Given the description of an element on the screen output the (x, y) to click on. 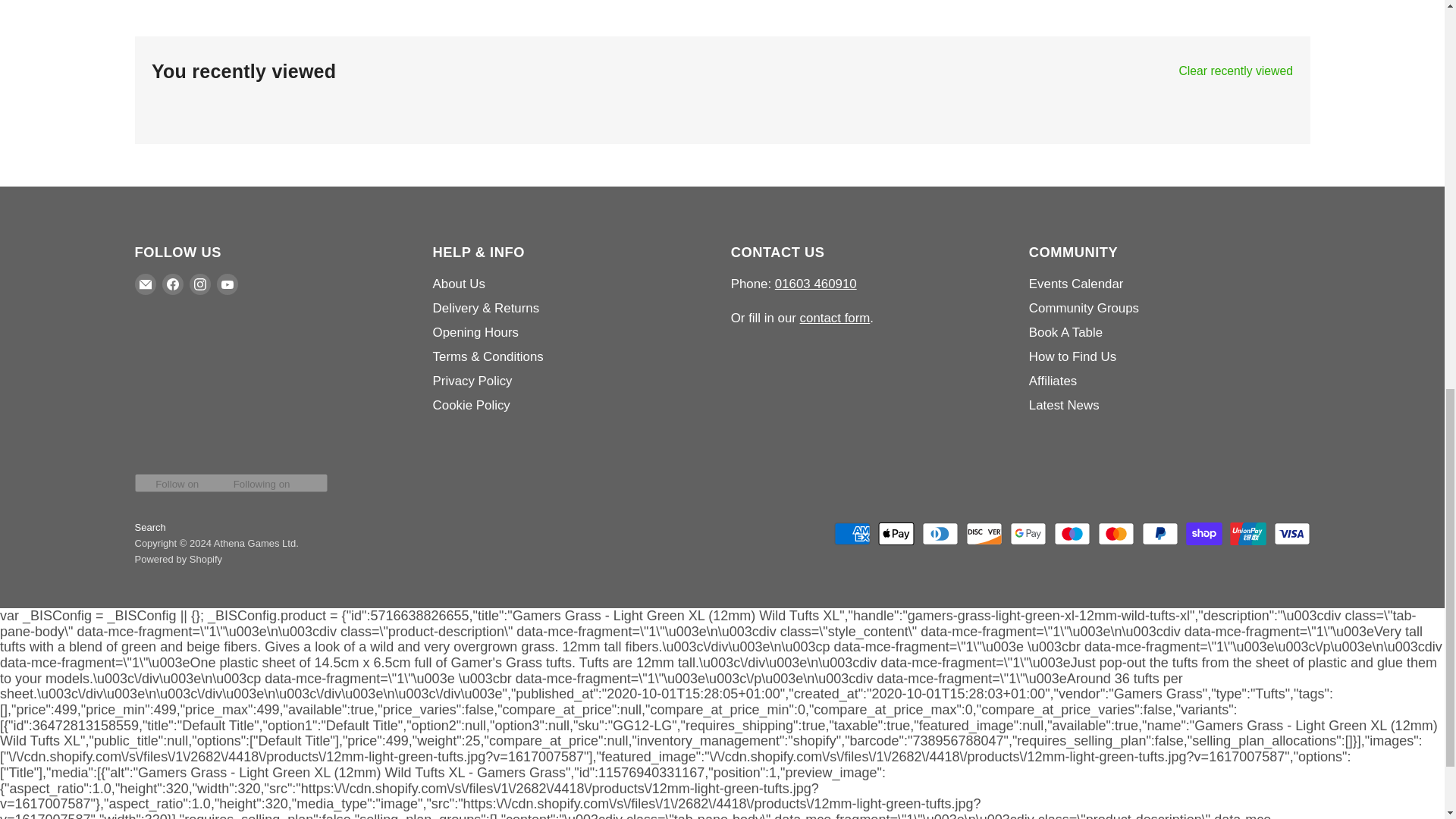
Facebook (172, 283)
tel:01603 460910 (815, 283)
Contact Us (834, 318)
YouTube (227, 283)
Email (145, 283)
Instagram (200, 283)
